Given the description of an element on the screen output the (x, y) to click on. 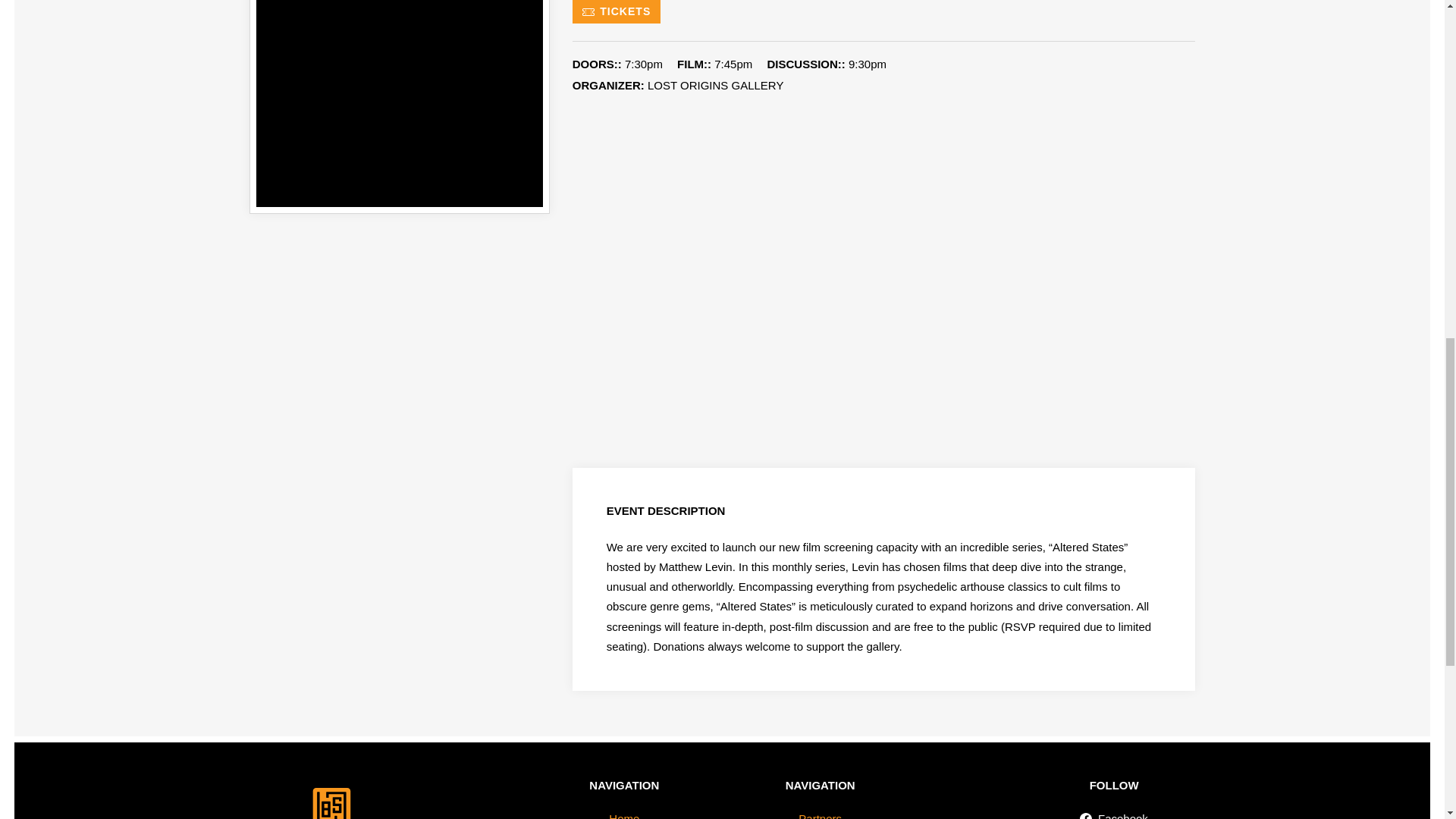
TICKETS (616, 11)
Home (623, 812)
Facebook (1114, 812)
Partners (820, 812)
